Given the description of an element on the screen output the (x, y) to click on. 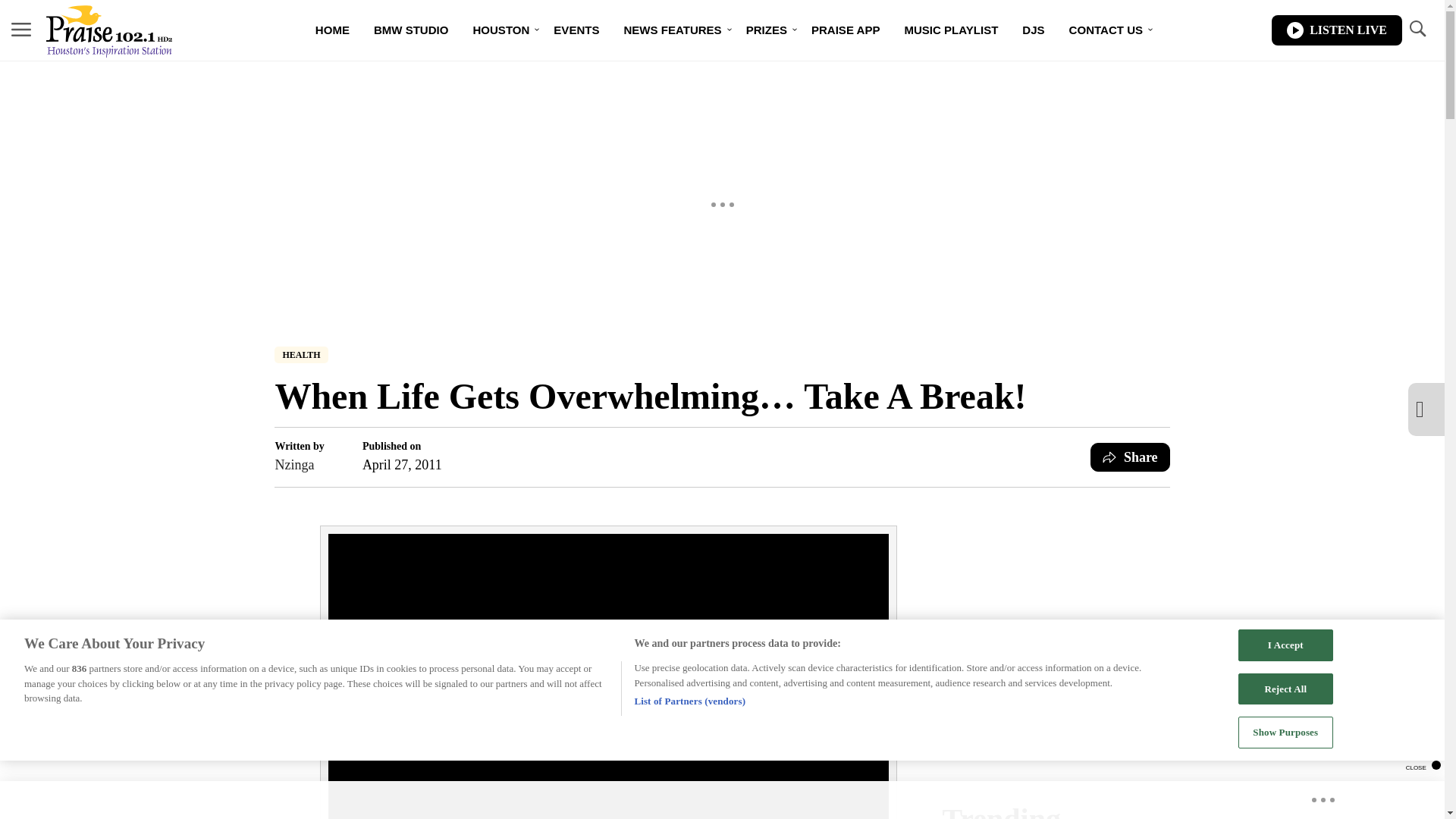
MENU (20, 29)
PRIZES (766, 30)
MUSIC PLAYLIST (950, 30)
MENU (20, 30)
TOGGLE SEARCH (1417, 30)
NEWS FEATURES (672, 30)
PRAISE APP (845, 30)
CONTACT US (1105, 30)
TOGGLE SEARCH (1417, 28)
BMW STUDIO (411, 30)
HOUSTON (500, 30)
Share (1130, 457)
Nzinga (299, 464)
EVENTS (576, 30)
LISTEN LIVE (1336, 30)
